Given the description of an element on the screen output the (x, y) to click on. 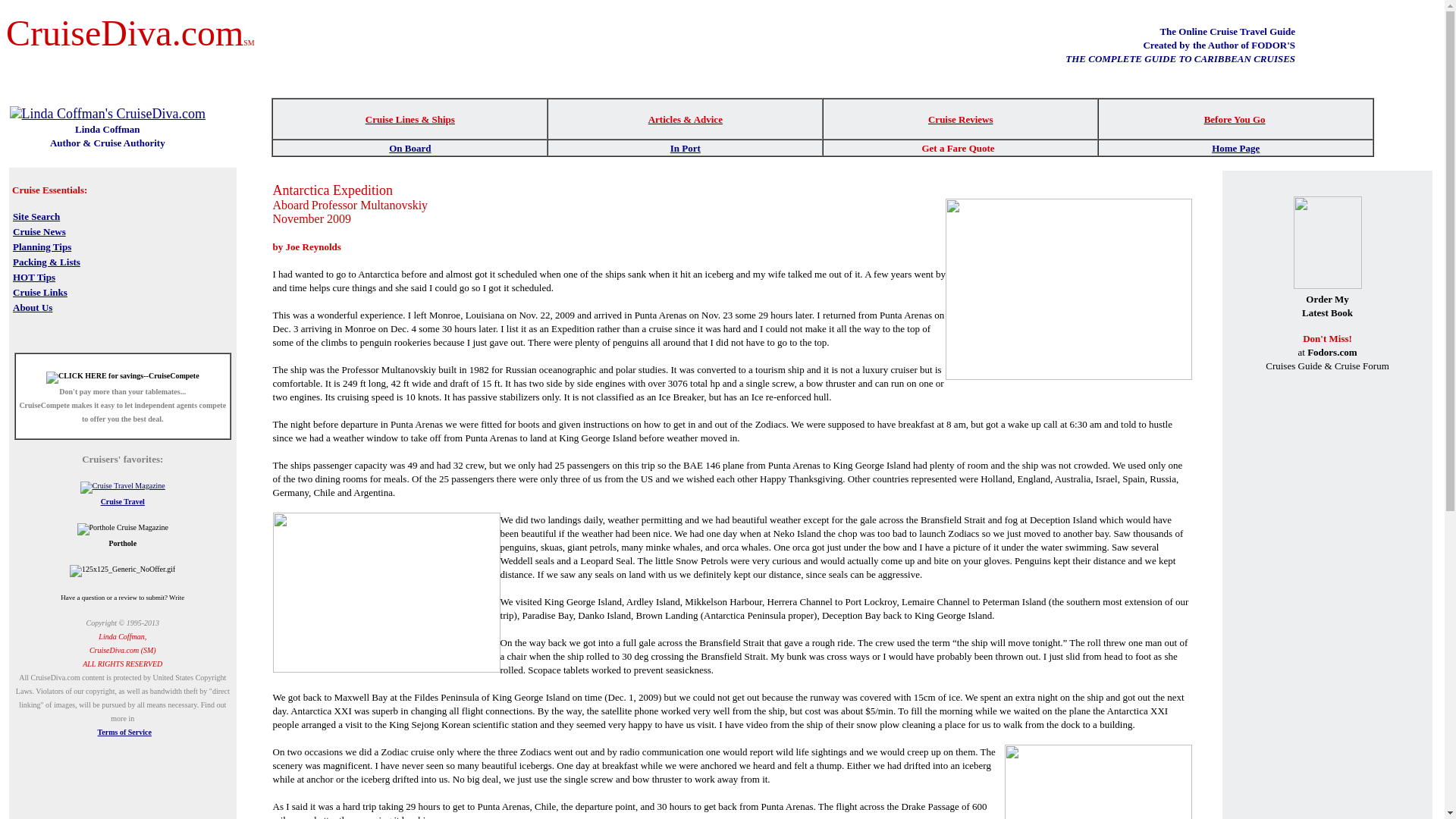
On Board (409, 146)
Planning Tips (42, 245)
Terms of Service (124, 732)
HOT Tips (34, 276)
Cruise Reviews (960, 118)
Cruise Links (39, 291)
About Us (32, 306)
Site Search (36, 215)
Cruise News (39, 230)
Cruise Travel (122, 501)
Home Page (1235, 147)
Before You Go (1234, 118)
In Port (684, 146)
